Given the description of an element on the screen output the (x, y) to click on. 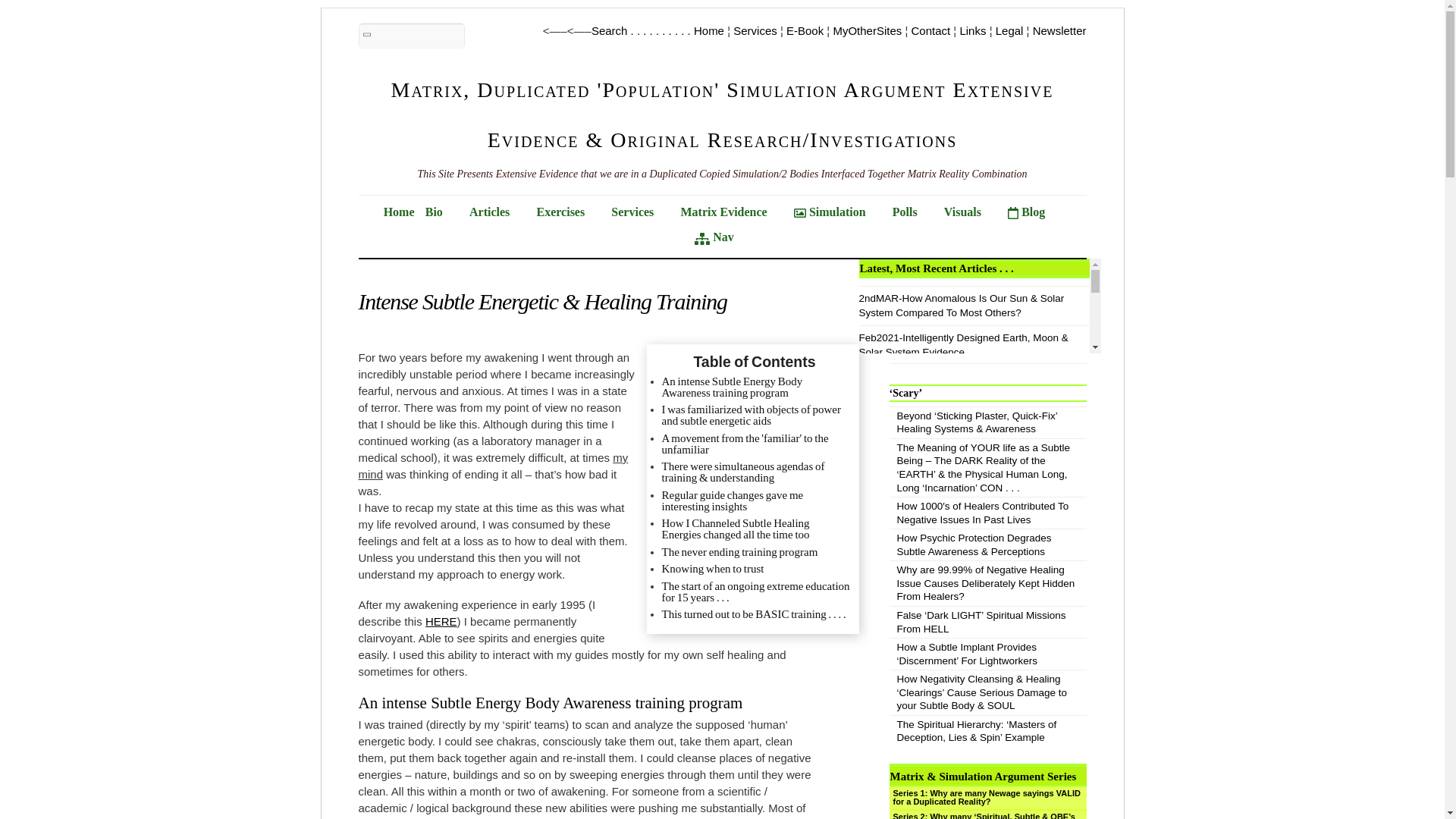
MyOtherSites (866, 30)
Home (399, 211)
Legal (1009, 30)
Newsletter (1059, 30)
Articles (497, 211)
Bio (442, 211)
Search (411, 35)
Contact (930, 30)
Home (708, 30)
Click for Poll LISTS Summary Page (912, 211)
E-Book (805, 30)
Links (972, 30)
Services (755, 30)
Listed Article Series Covering Different Topics (497, 211)
Site Navigation (722, 238)
